Given the description of an element on the screen output the (x, y) to click on. 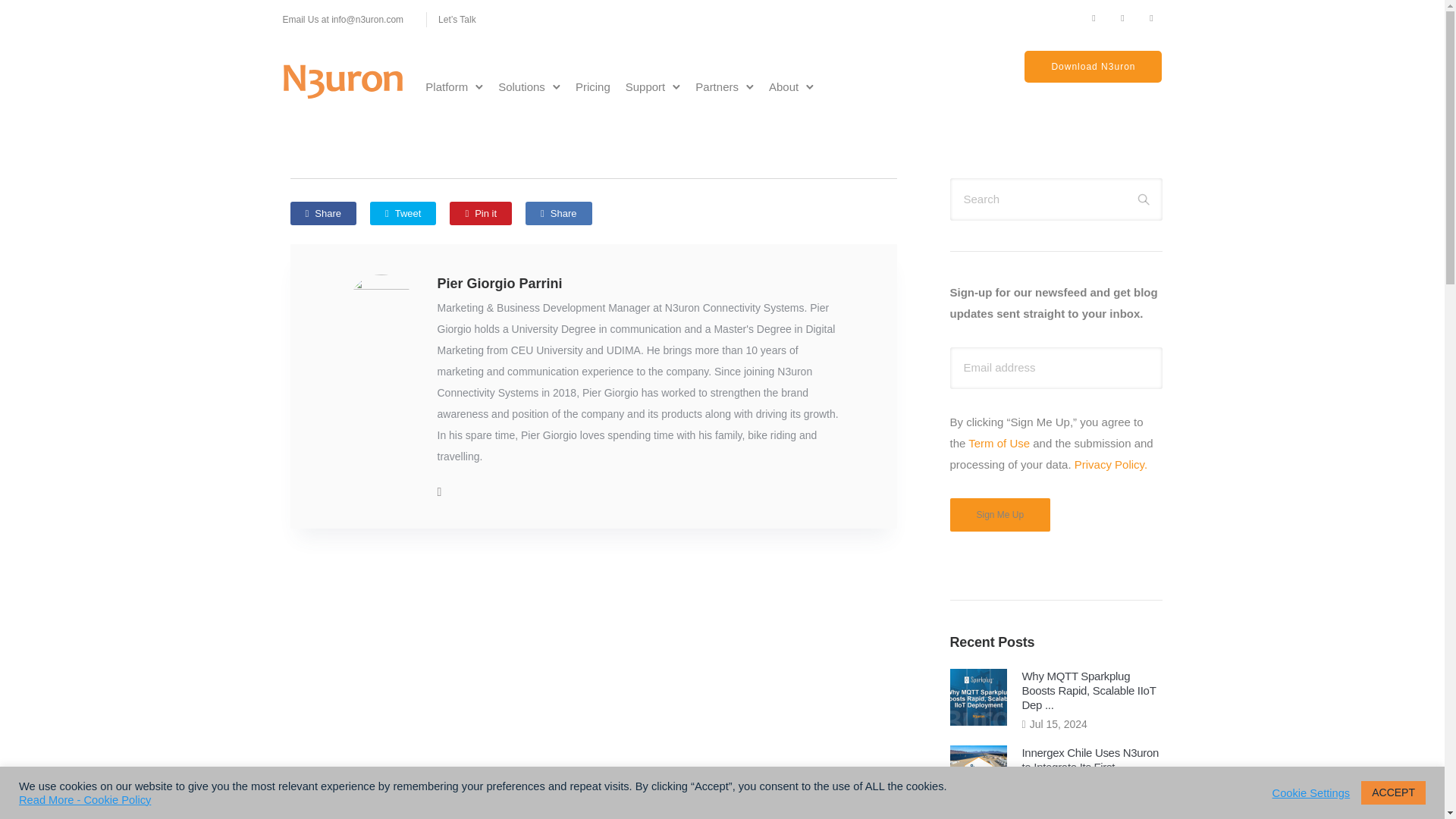
Solutions (521, 86)
Support (644, 86)
Pricing (592, 86)
Platform (446, 86)
Solutions (521, 86)
Sign me up (999, 514)
Support (644, 86)
Platform (446, 86)
Partners (716, 86)
Partners (716, 86)
Pricing (592, 86)
About (783, 86)
